Given the description of an element on the screen output the (x, y) to click on. 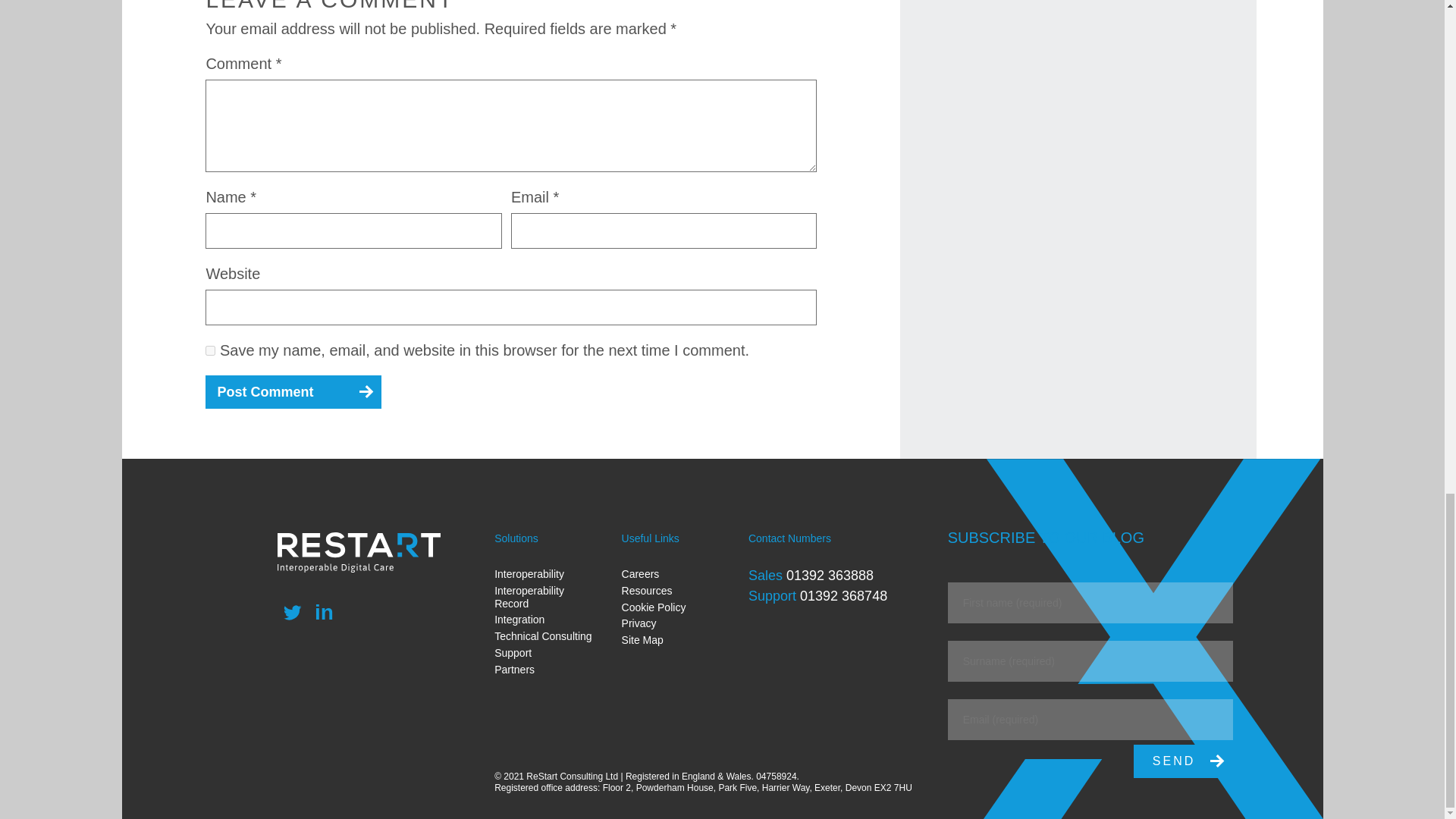
yes (210, 350)
SEND (1183, 761)
Post Comment (293, 391)
Post Comment (293, 391)
